Given the description of an element on the screen output the (x, y) to click on. 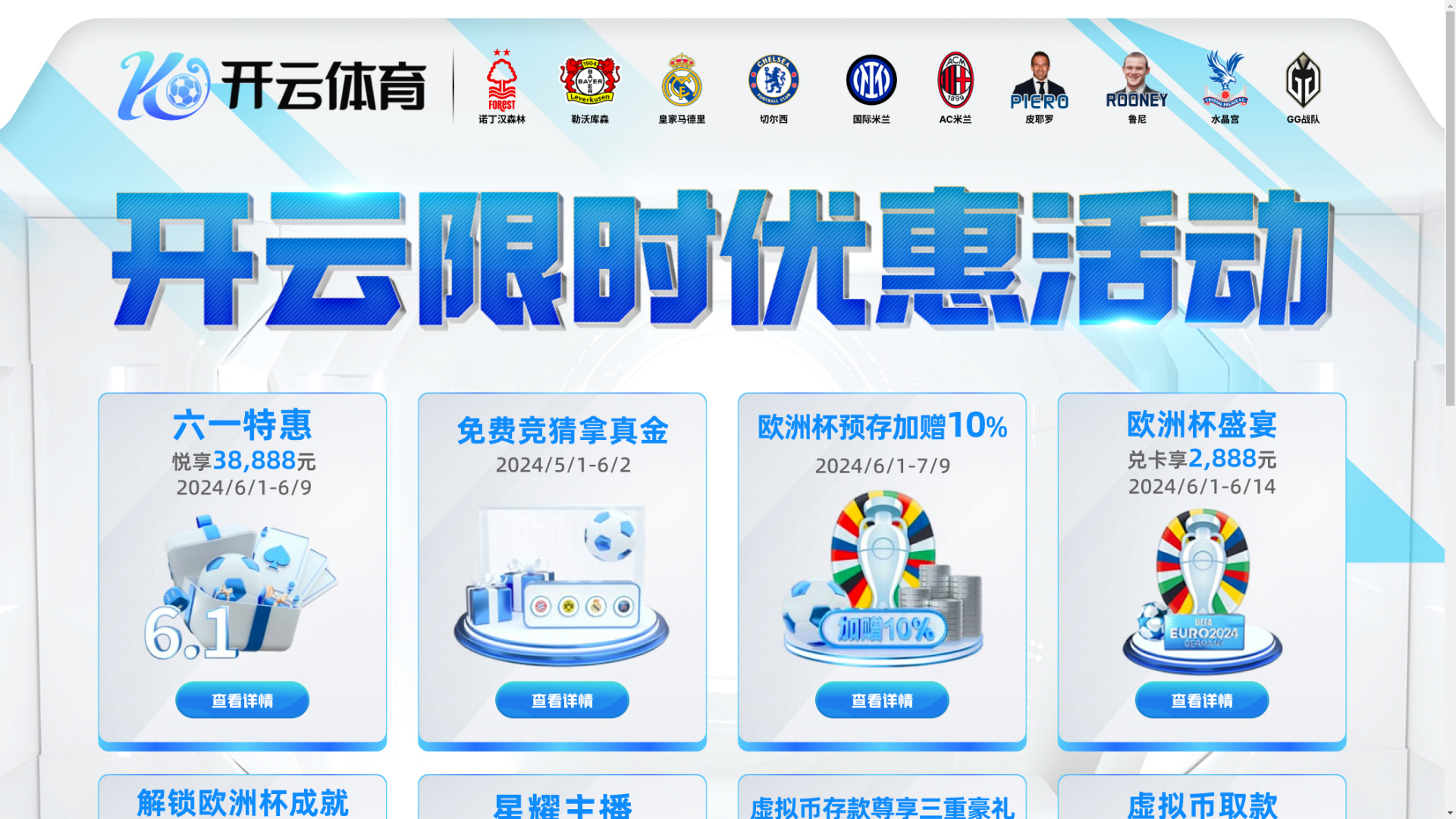
Packages (403, 62)
ABOUT (552, 62)
PACKAGES (403, 62)
First Base (336, 765)
BLOG (751, 62)
VIEW ALL PACKAGES (727, 448)
Home (322, 62)
About (552, 62)
FAQS (814, 62)
HOME (322, 62)
BOOK NOW (1093, 309)
BOOK NOW (807, 309)
GUNS (483, 62)
BOOK NOW (521, 402)
BOOK NOW (521, 309)
